Given the description of an element on the screen output the (x, y) to click on. 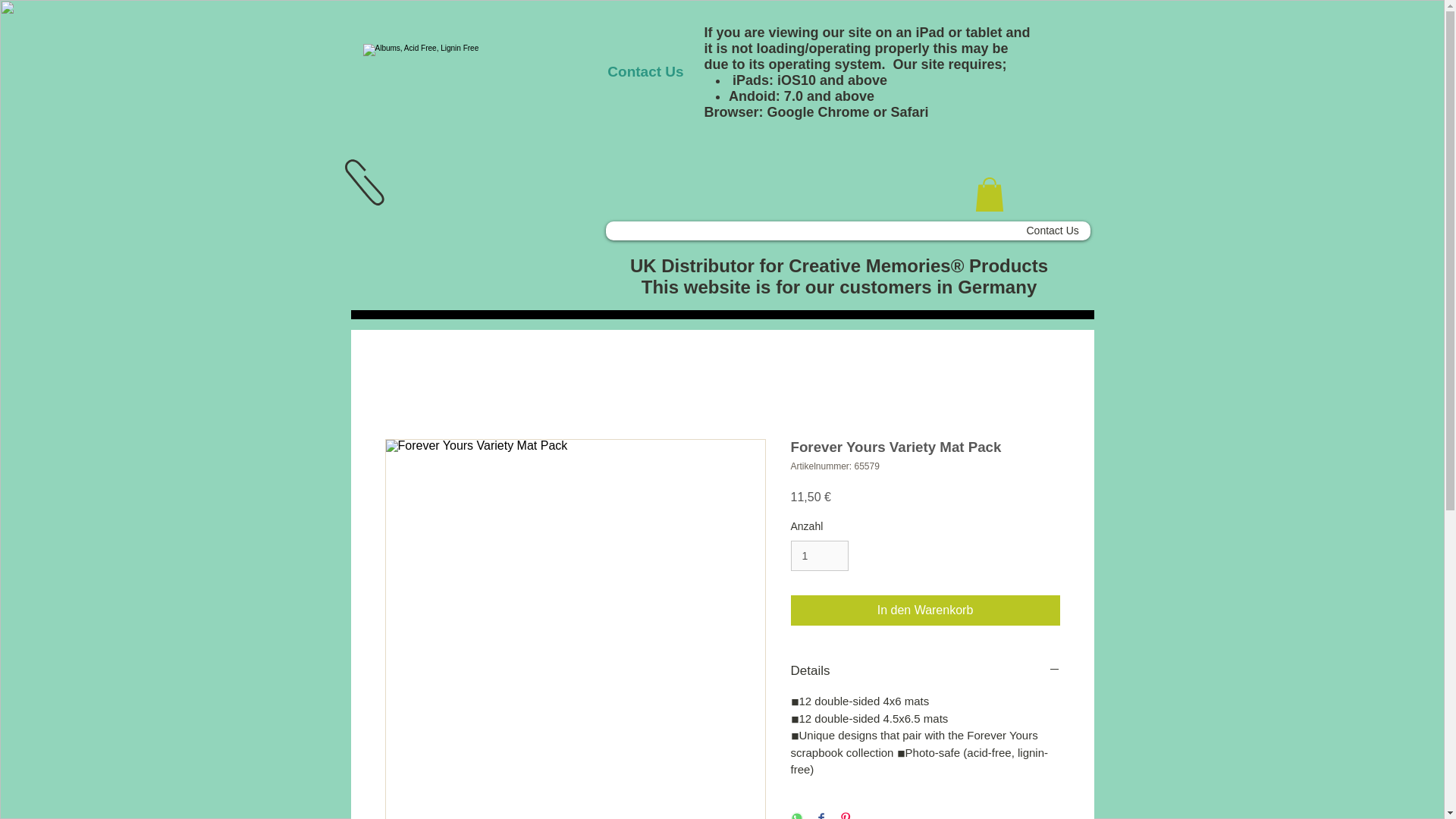
Details (924, 670)
1 (818, 555)
Contact Us (1051, 230)
Contact Us (645, 72)
In den Warenkorb (924, 610)
